Given the description of an element on the screen output the (x, y) to click on. 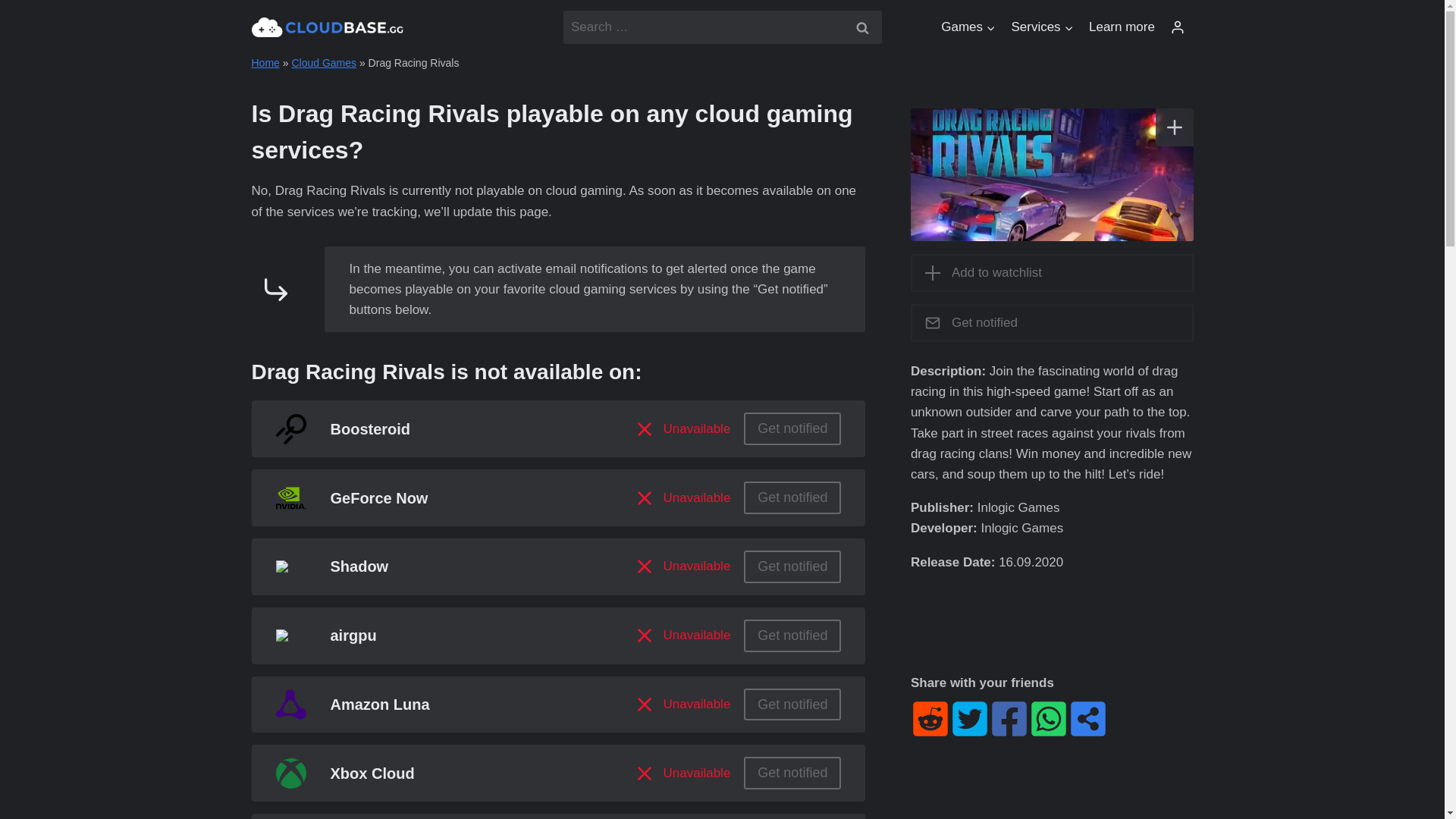
Drag Racing Rivals 2 (1052, 174)
Search (861, 27)
Services (1042, 27)
Search (861, 27)
Games (968, 27)
Search (861, 27)
